Given the description of an element on the screen output the (x, y) to click on. 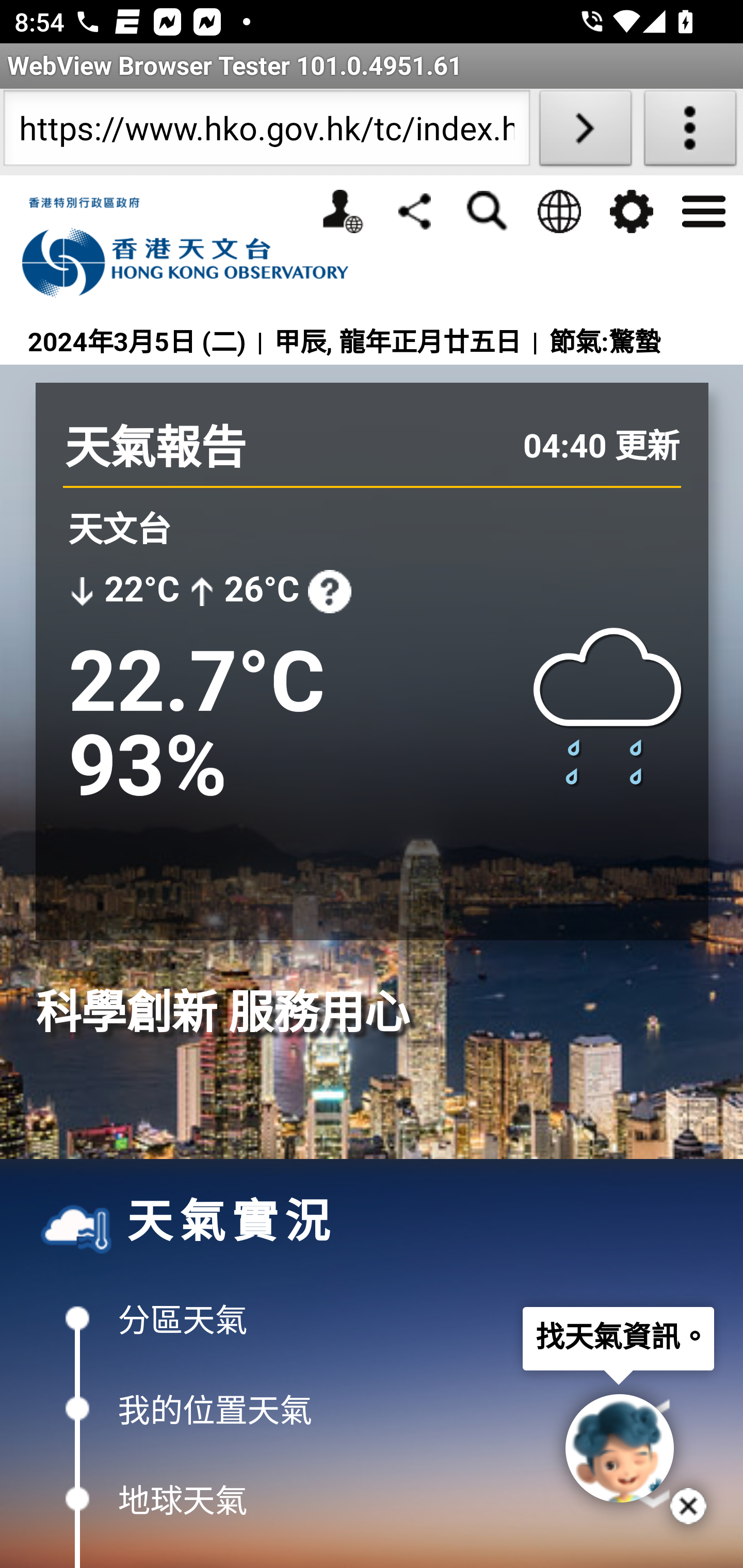
https://www.hko.gov.hk/tc/index.html (266, 132)
Load URL (585, 132)
About WebView (690, 132)
香港天文台 (195, 247)
個人版網站 個人版網站 (341, 211)
搜尋 搜尋 (486, 211)
語言 語言 (558, 211)
分享 分享 (414, 210)
選單 選單 (703, 209)
天氣報告 (155, 447)
幫助 (329, 591)
微雨 (608, 703)
分區天氣 (371, 1318)
我的位置天氣 (371, 1408)
與「度天隊長」聊天 (619, 1447)
地球天氣 (371, 1499)
關閉 (687, 1505)
